Given the description of an element on the screen output the (x, y) to click on. 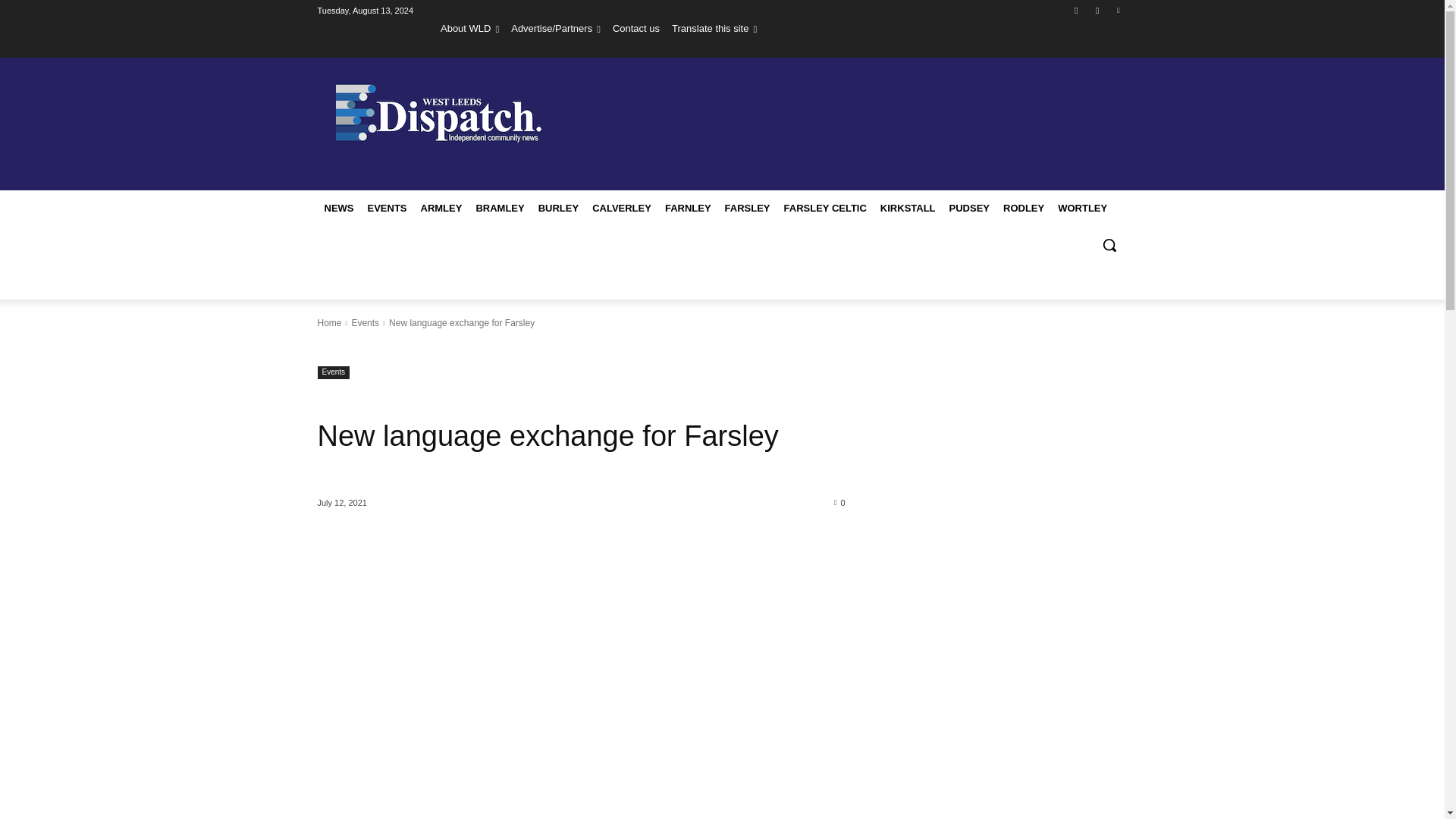
About WLD (470, 28)
Translate this site (714, 28)
Contact us (635, 28)
